Given the description of an element on the screen output the (x, y) to click on. 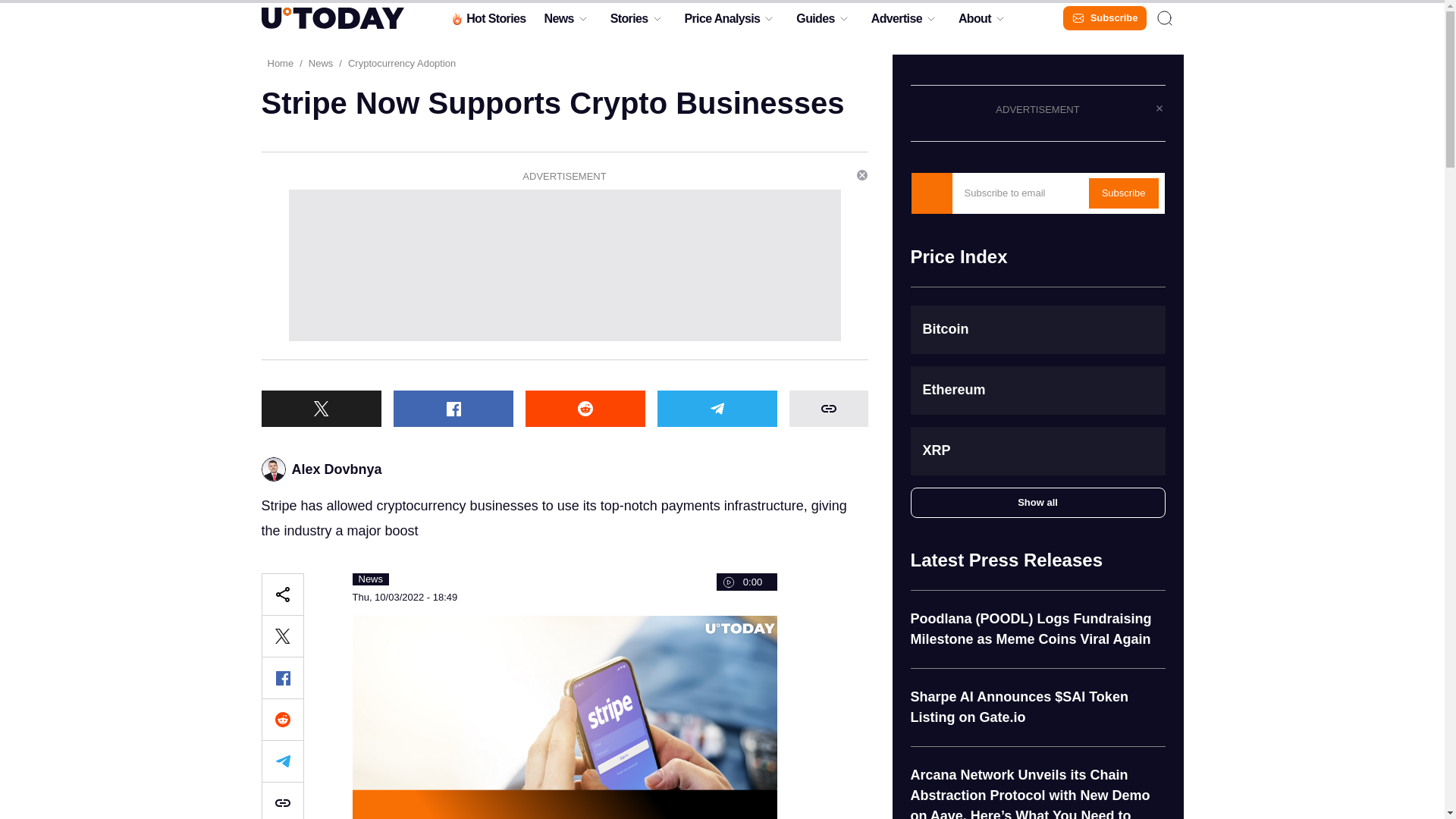
Hot Stories (486, 22)
Share to Reddit (584, 408)
Share to Telegram (281, 761)
News (558, 22)
Share to Telegram (716, 408)
Stories (628, 22)
Share to Facebook (452, 408)
Advertisement (564, 265)
Share to Facebook (281, 677)
U.Today logo (331, 17)
Share to X (320, 408)
Share to Reddit (281, 719)
Share to X (281, 636)
